Given the description of an element on the screen output the (x, y) to click on. 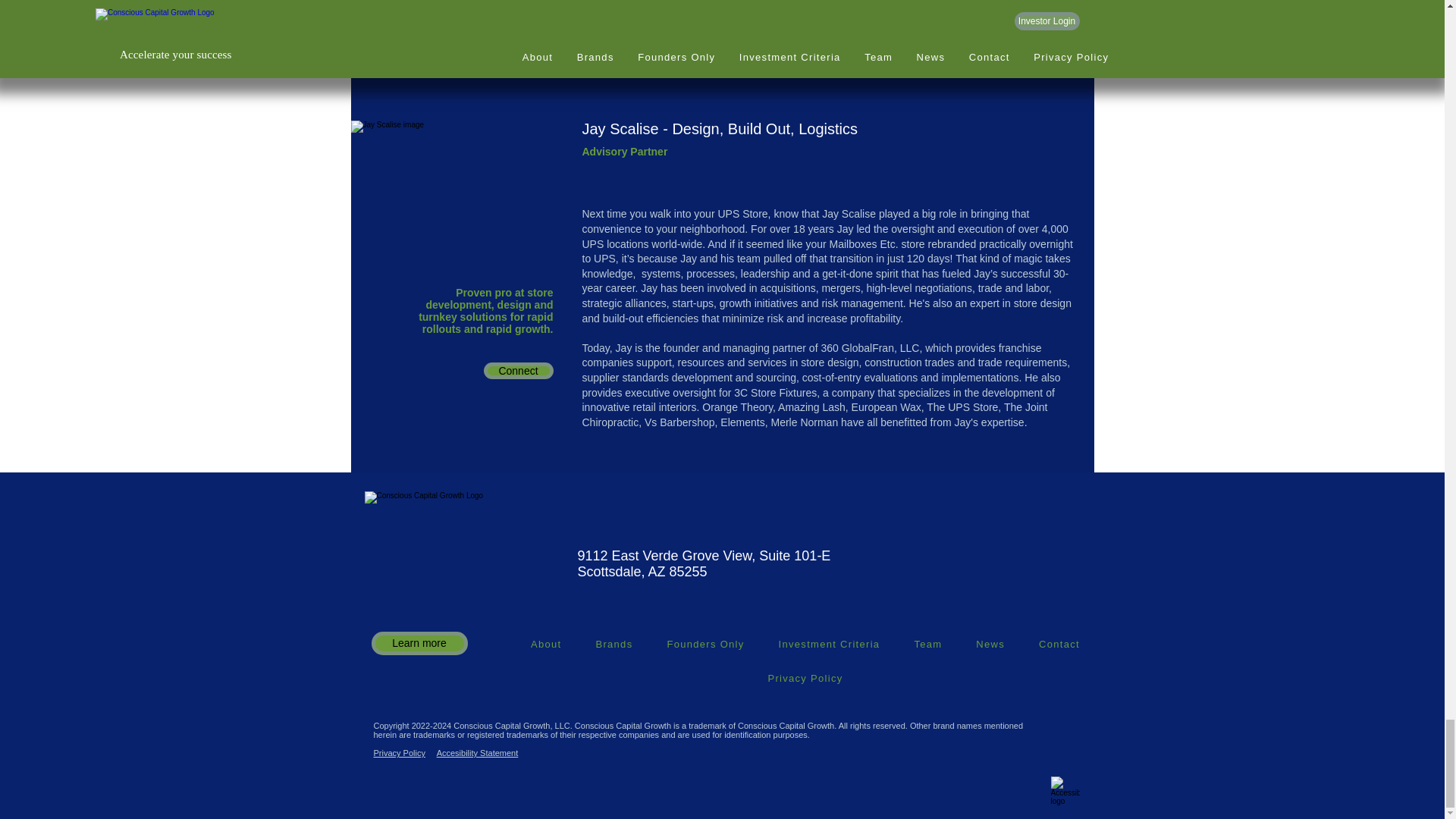
Brands (613, 644)
Team (927, 644)
Investment Criteria (828, 644)
Founders Only (705, 644)
Learn more (419, 643)
News (990, 644)
Connect (518, 370)
Privacy Policy (805, 678)
Connect (518, 2)
Contact (1059, 644)
